Given the description of an element on the screen output the (x, y) to click on. 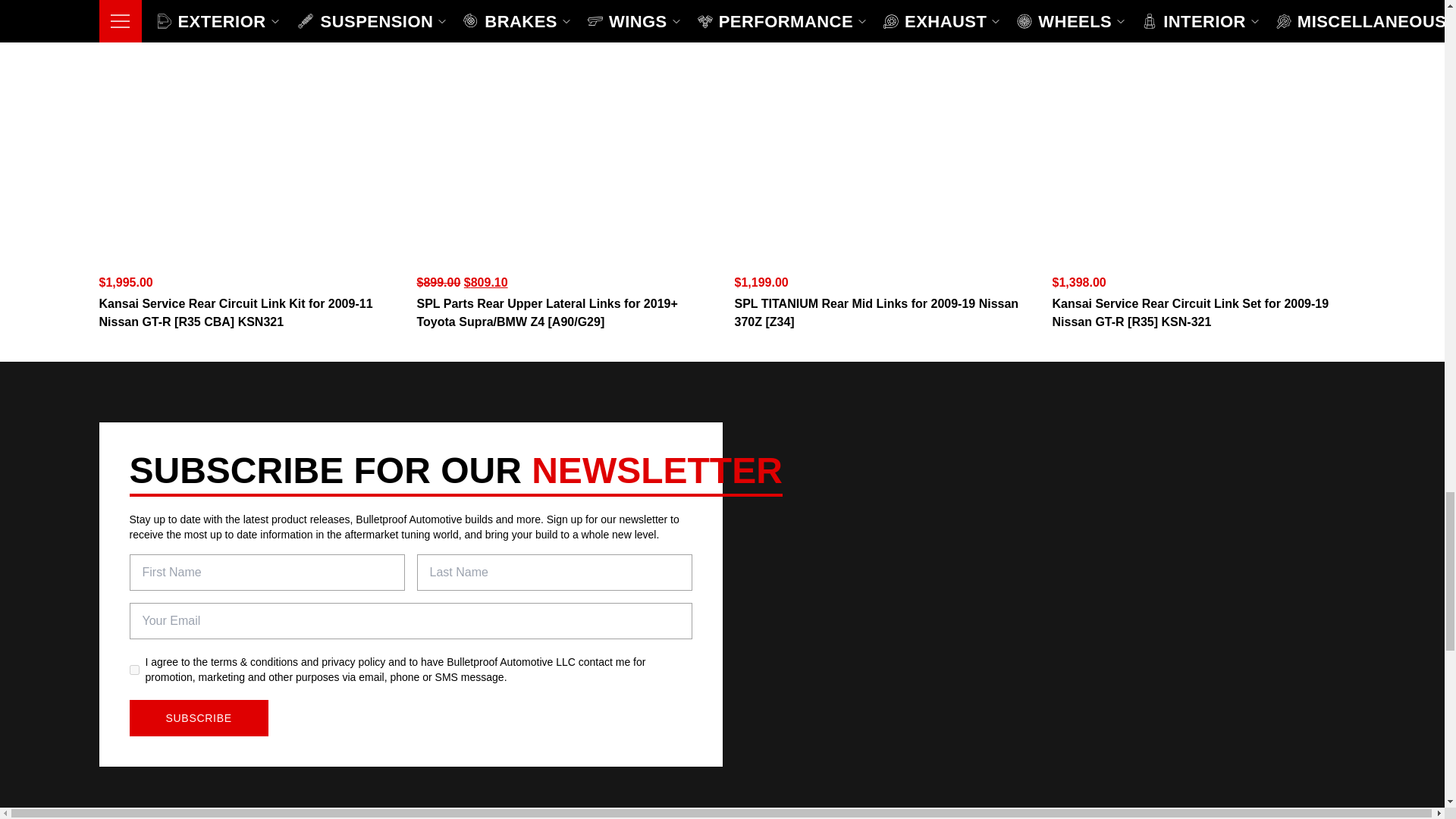
on (133, 669)
